Given the description of an element on the screen output the (x, y) to click on. 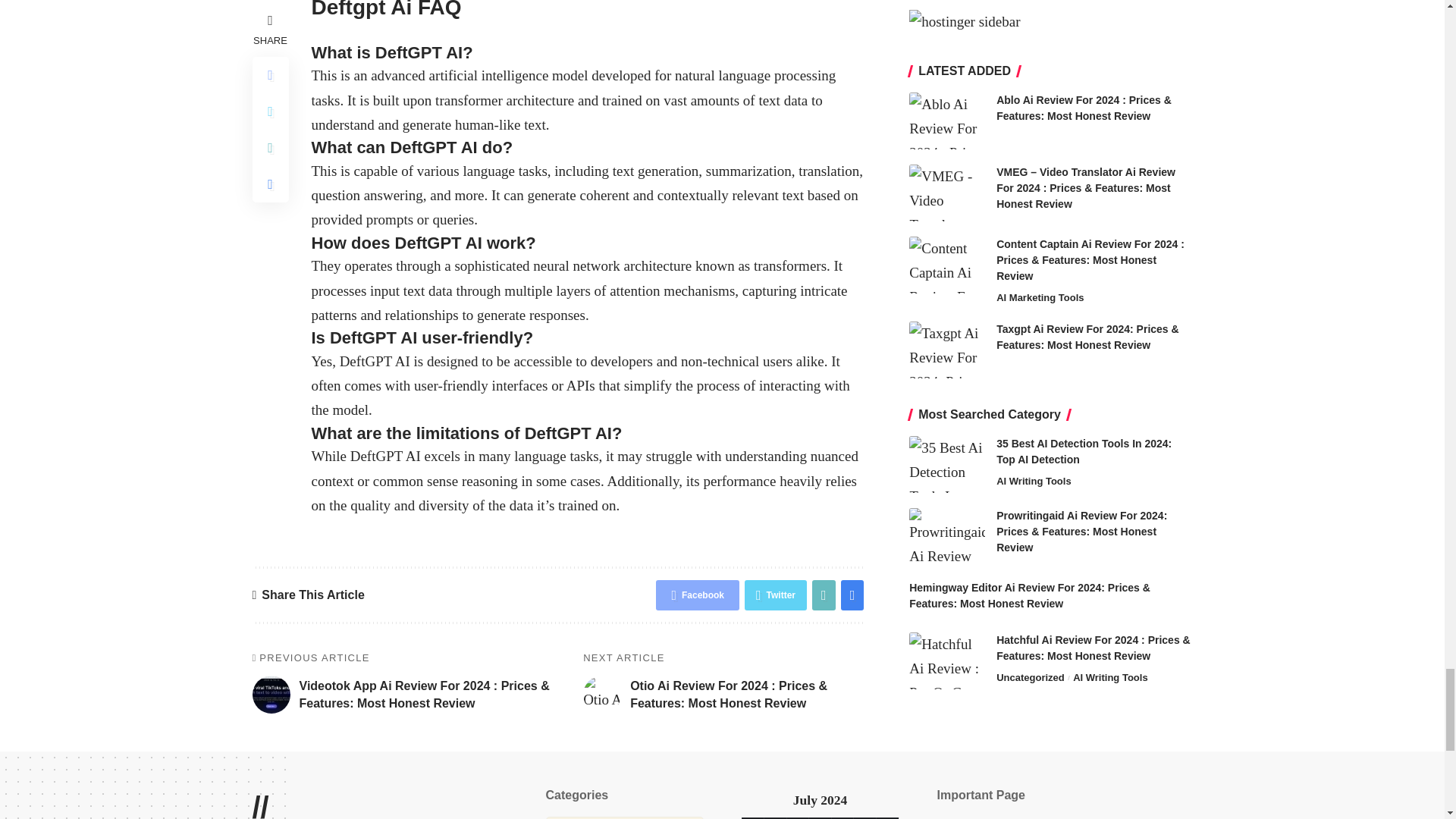
Monday (752, 818)
Tuesday (775, 818)
